Given the description of an element on the screen output the (x, y) to click on. 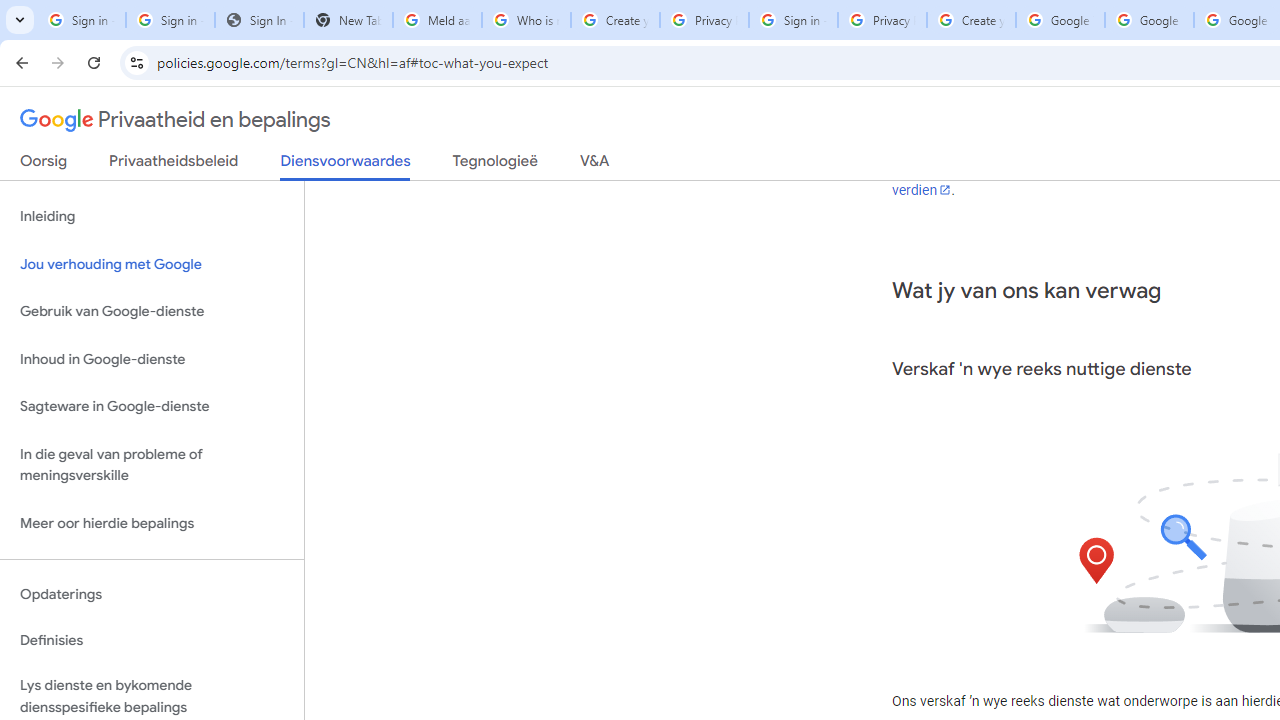
Inhoud in Google-dienste (152, 358)
Sign in - Google Accounts (81, 20)
Sagteware in Google-dienste (152, 407)
Opdaterings (152, 594)
